Given the description of an element on the screen output the (x, y) to click on. 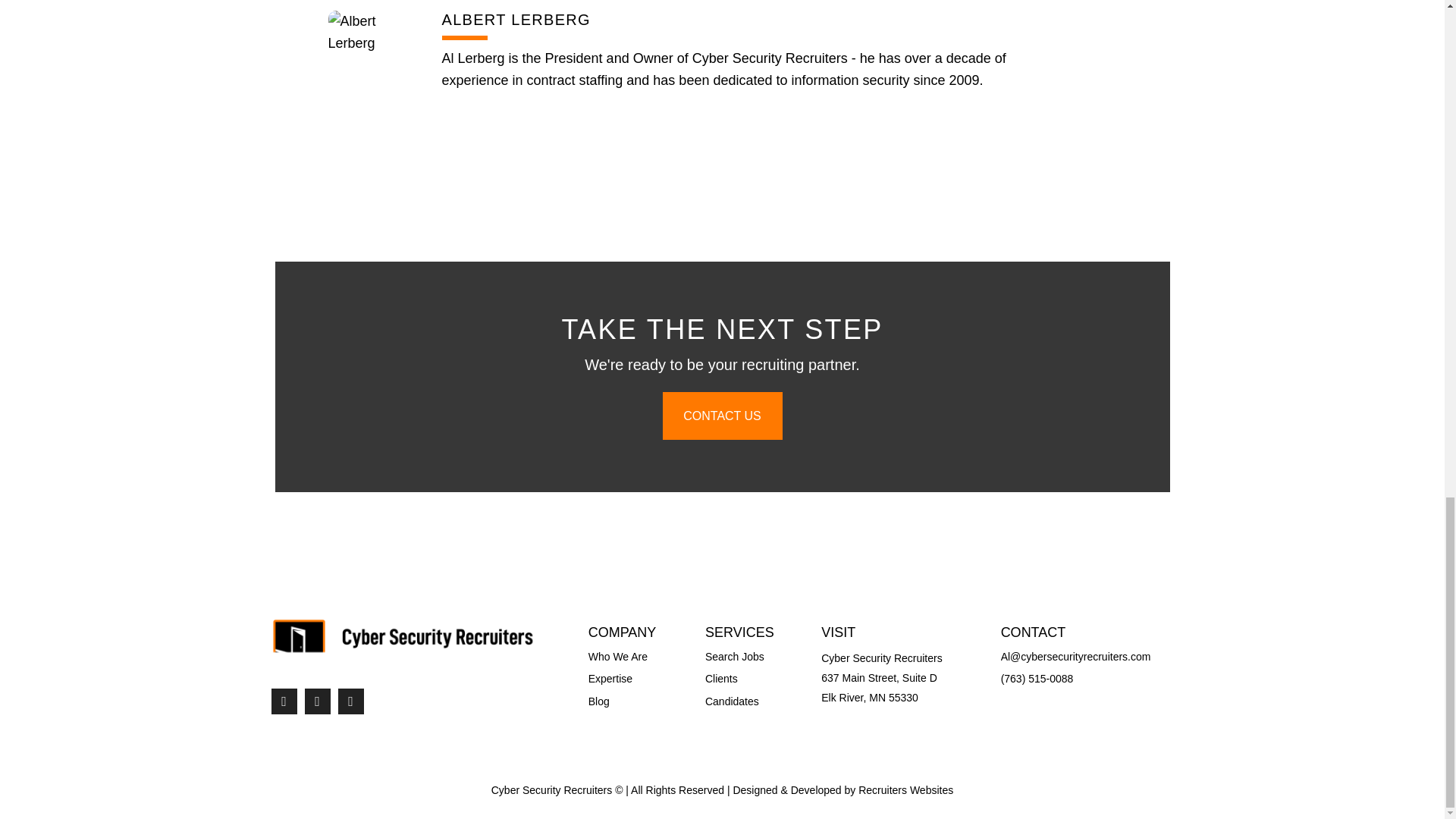
Who We Are (617, 656)
Clients (721, 678)
CONTACT US (722, 416)
CSR Header Logo (403, 645)
Search Jobs (734, 656)
Recruiters Websites (906, 789)
Candidates (731, 701)
Blog (599, 701)
Expertise (609, 678)
